Given the description of an element on the screen output the (x, y) to click on. 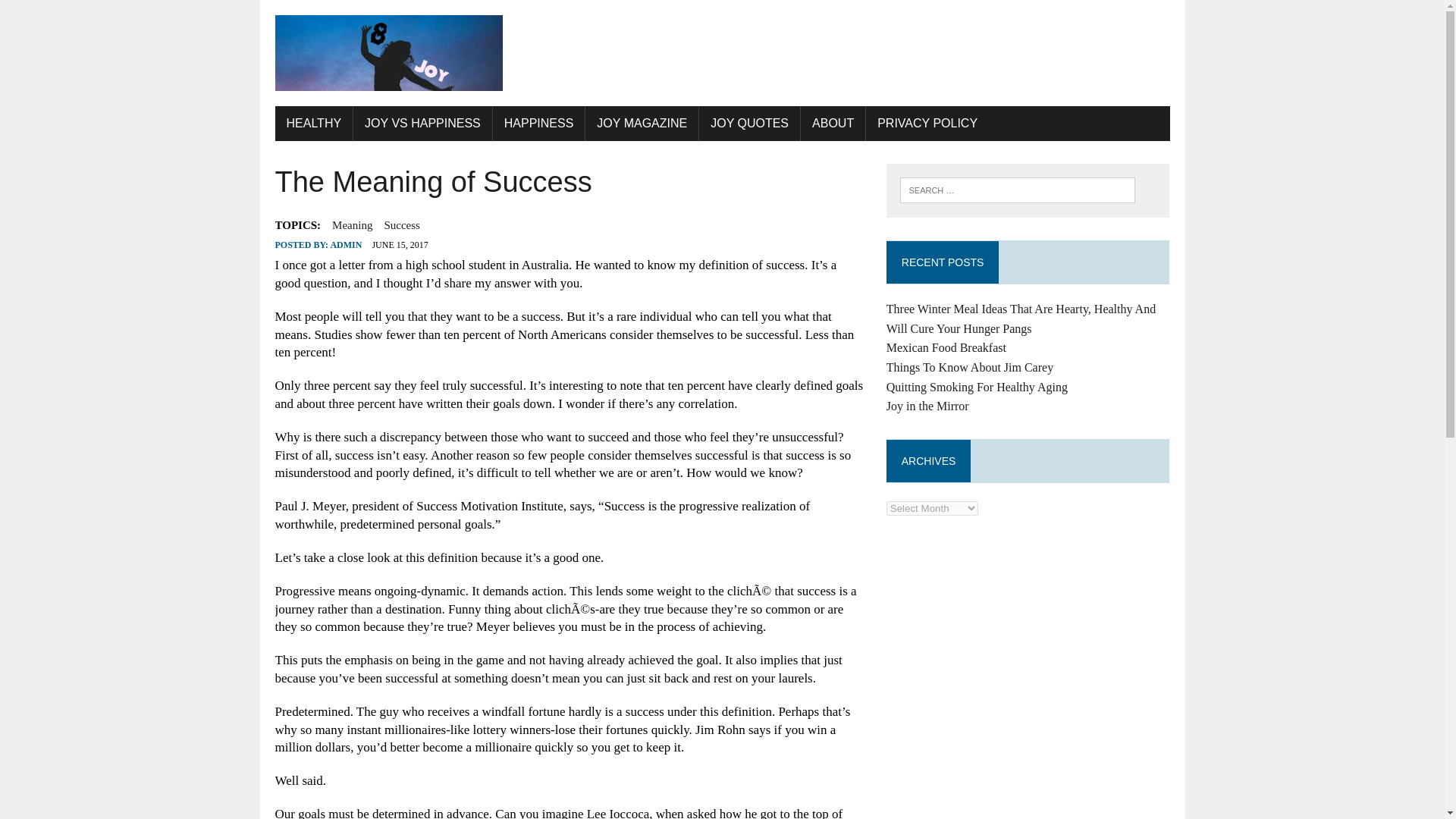
ADMIN (345, 244)
Search (75, 14)
Mexican Food Breakfast (946, 347)
HEALTHY (313, 123)
JOY VS HAPPINESS (422, 123)
Quitting Smoking For Healthy Aging (976, 386)
ABOUT (832, 123)
JOY MAGAZINE (641, 123)
Joy in the Mirror (927, 405)
